Given the description of an element on the screen output the (x, y) to click on. 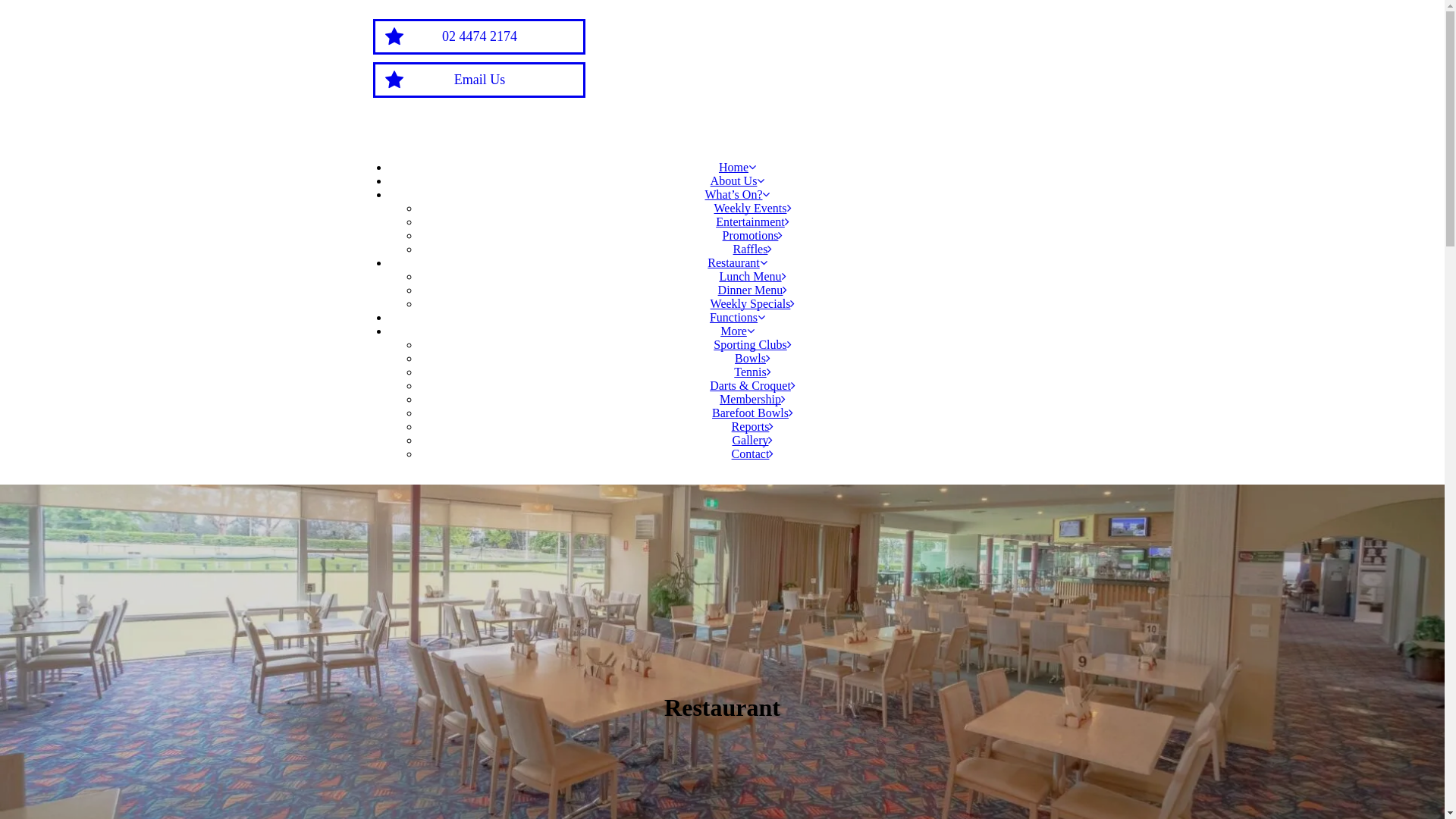
More Element type: text (737, 330)
Functions Element type: text (737, 316)
Barefoot Bowls Element type: text (752, 412)
Weekly Events Element type: text (751, 207)
Reports Element type: text (752, 426)
Lunch Menu Element type: text (751, 275)
Gallery Element type: text (752, 439)
Weekly Specials Element type: text (752, 303)
Bowls Element type: text (752, 357)
Darts & Croquet Element type: text (752, 385)
Promotions Element type: text (752, 235)
Tennis Element type: text (752, 371)
Shore Street, Moruya NSW 2537, Australia Element type: text (948, 65)
Email Us Element type: text (479, 79)
Entertainment Element type: text (752, 221)
Membership Element type: text (752, 398)
Raffles Element type: text (752, 248)
About Us Element type: text (737, 180)
Contact Element type: text (752, 453)
Home Element type: text (737, 166)
Sporting Clubs Element type: text (751, 344)
Restaurant Element type: text (736, 262)
Dinner Menu Element type: text (752, 289)
02 4474 2174 Element type: text (479, 36)
